Given the description of an element on the screen output the (x, y) to click on. 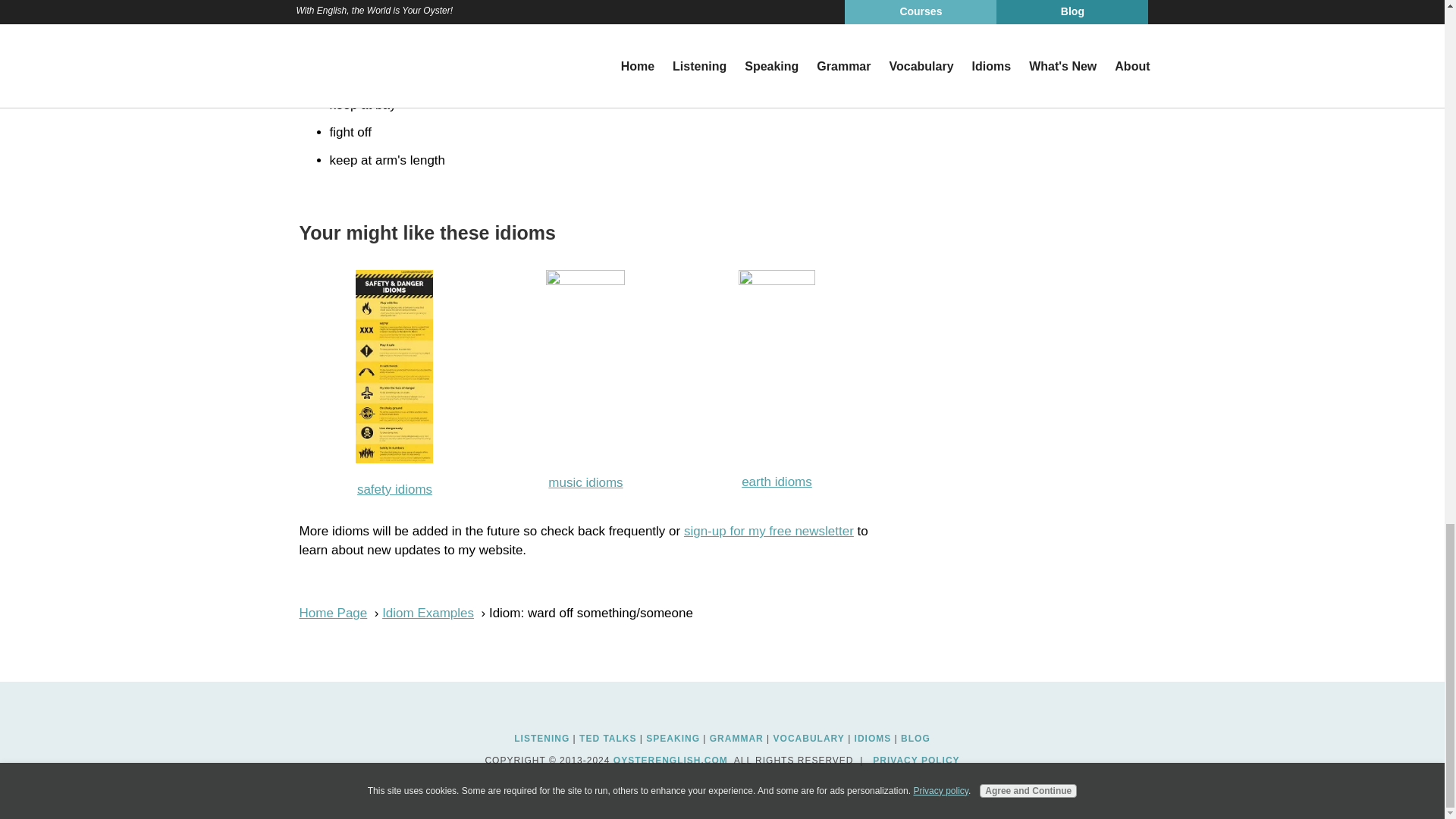
Go to Popular idioms about music (585, 280)
SPEAKING (673, 738)
earth idioms (776, 481)
TED TALKS (607, 738)
Idiom Examples (427, 612)
BLOG (915, 738)
OYSTERENGLISH.COM (670, 760)
GRAMMAR (736, 738)
PRIVACY POLICY (915, 760)
Go to Learn Popular Earth Idioms (776, 280)
